Given the description of an element on the screen output the (x, y) to click on. 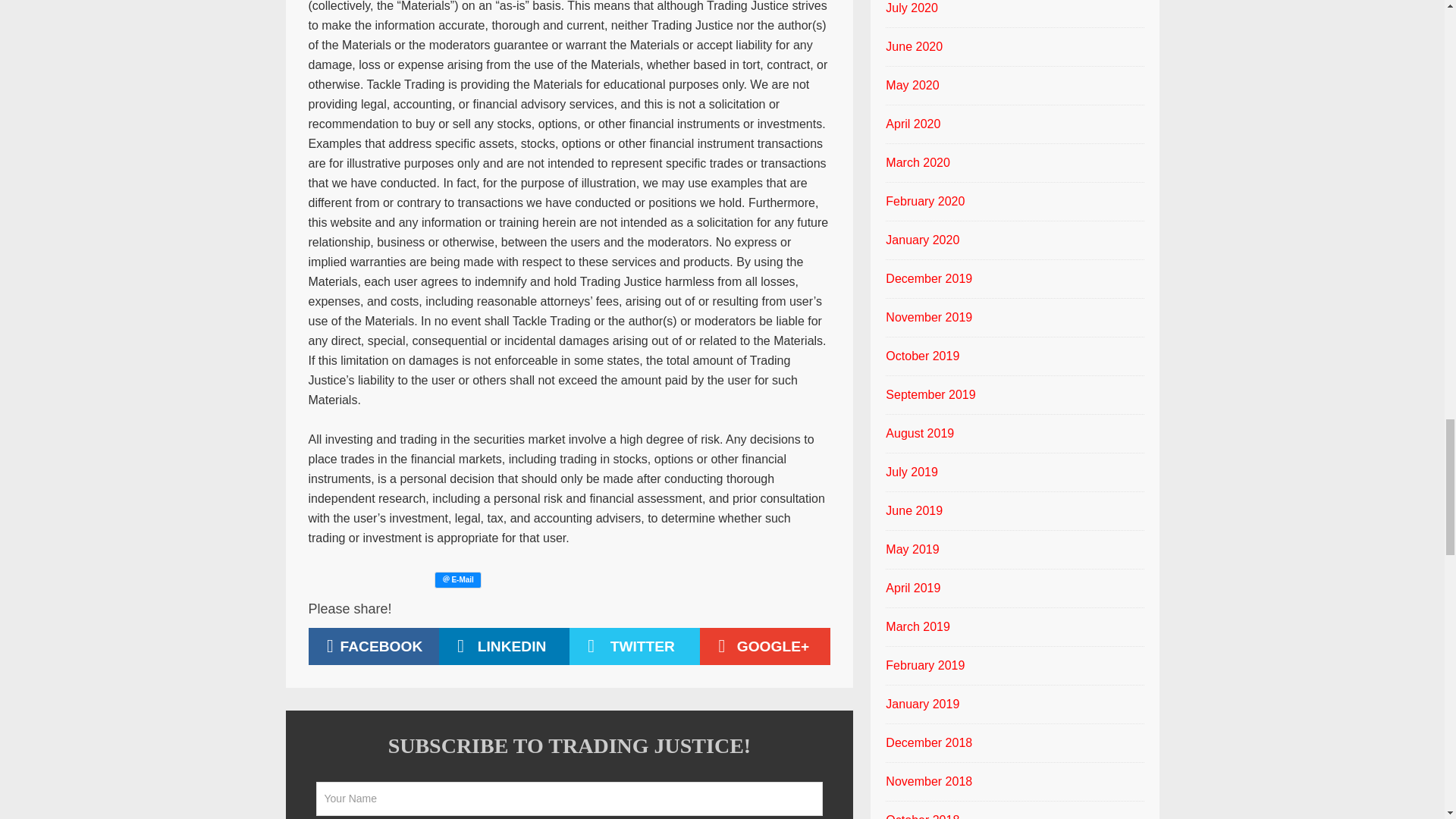
Your Name (568, 798)
FACEBOOK (372, 646)
LINKEDIN (504, 646)
TWITTER (634, 646)
